Given the description of an element on the screen output the (x, y) to click on. 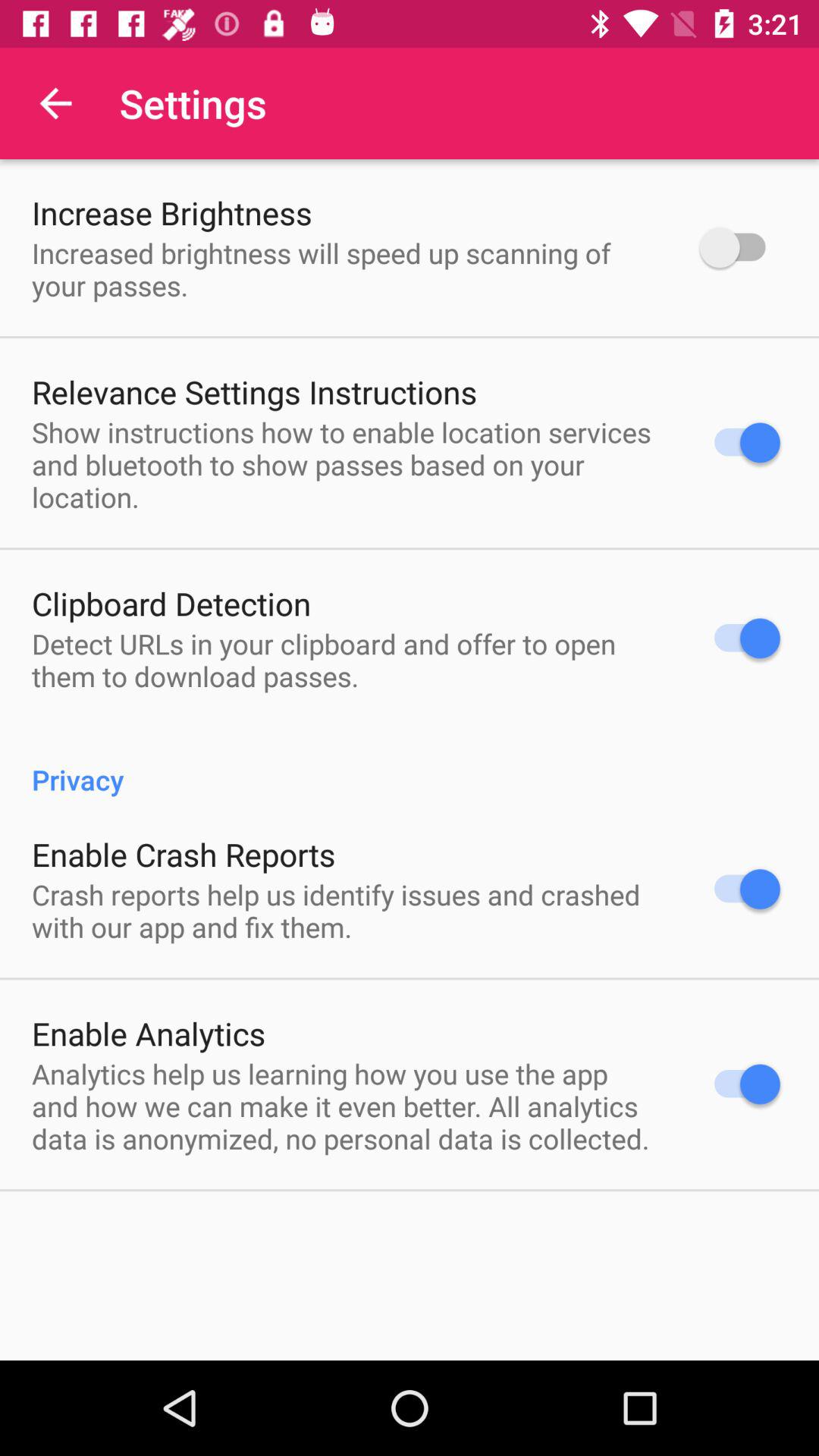
turn on the icon above the show instructions how item (254, 391)
